Given the description of an element on the screen output the (x, y) to click on. 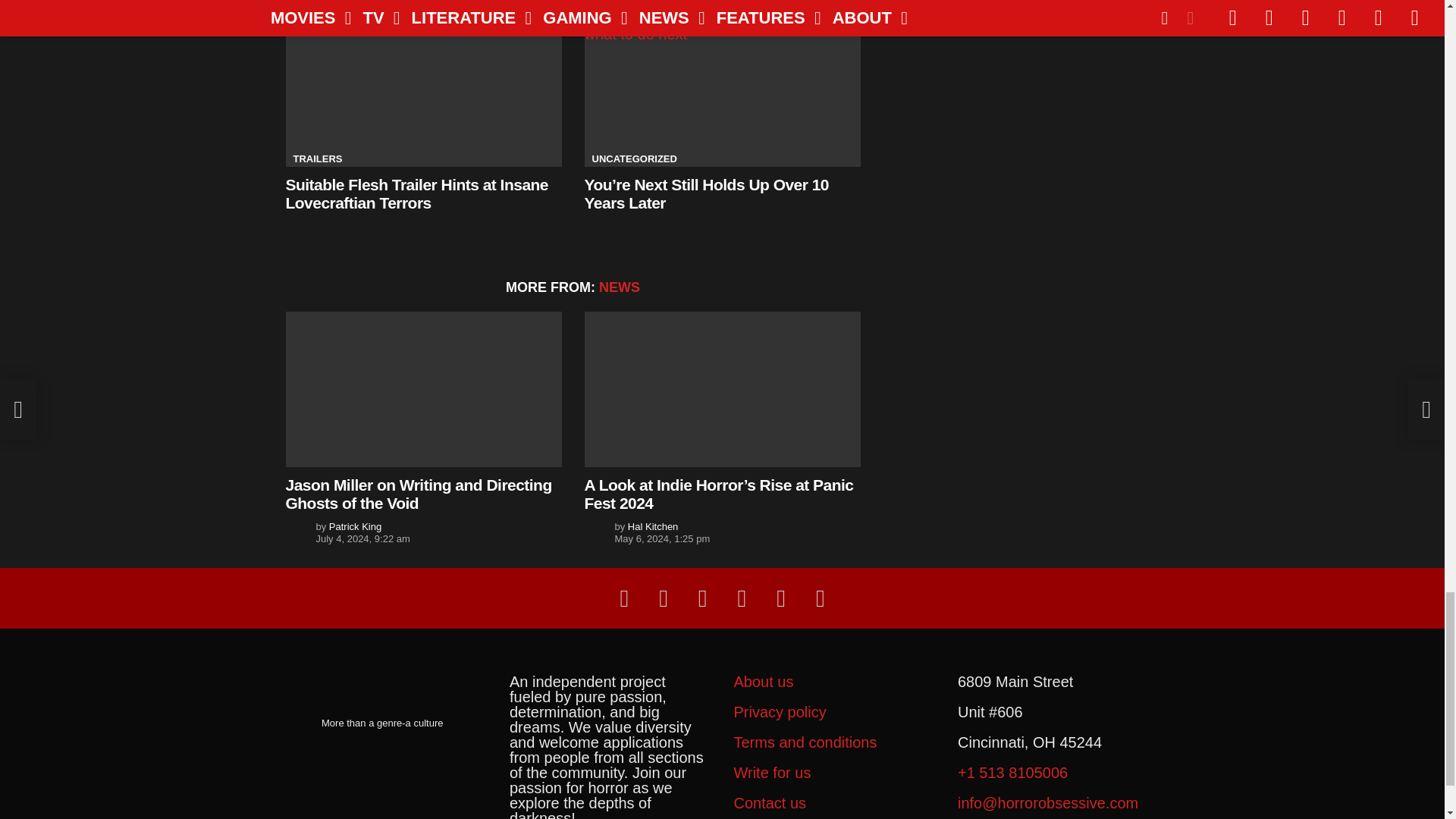
Suitable Flesh Trailer Hints at Insane Lovecraftian Terrors (422, 89)
Posts by Hal Kitchen (652, 526)
Jason Miller on Writing and Directing Ghosts of the Void (422, 389)
Posts by Patrick King (355, 526)
